Given the description of an element on the screen output the (x, y) to click on. 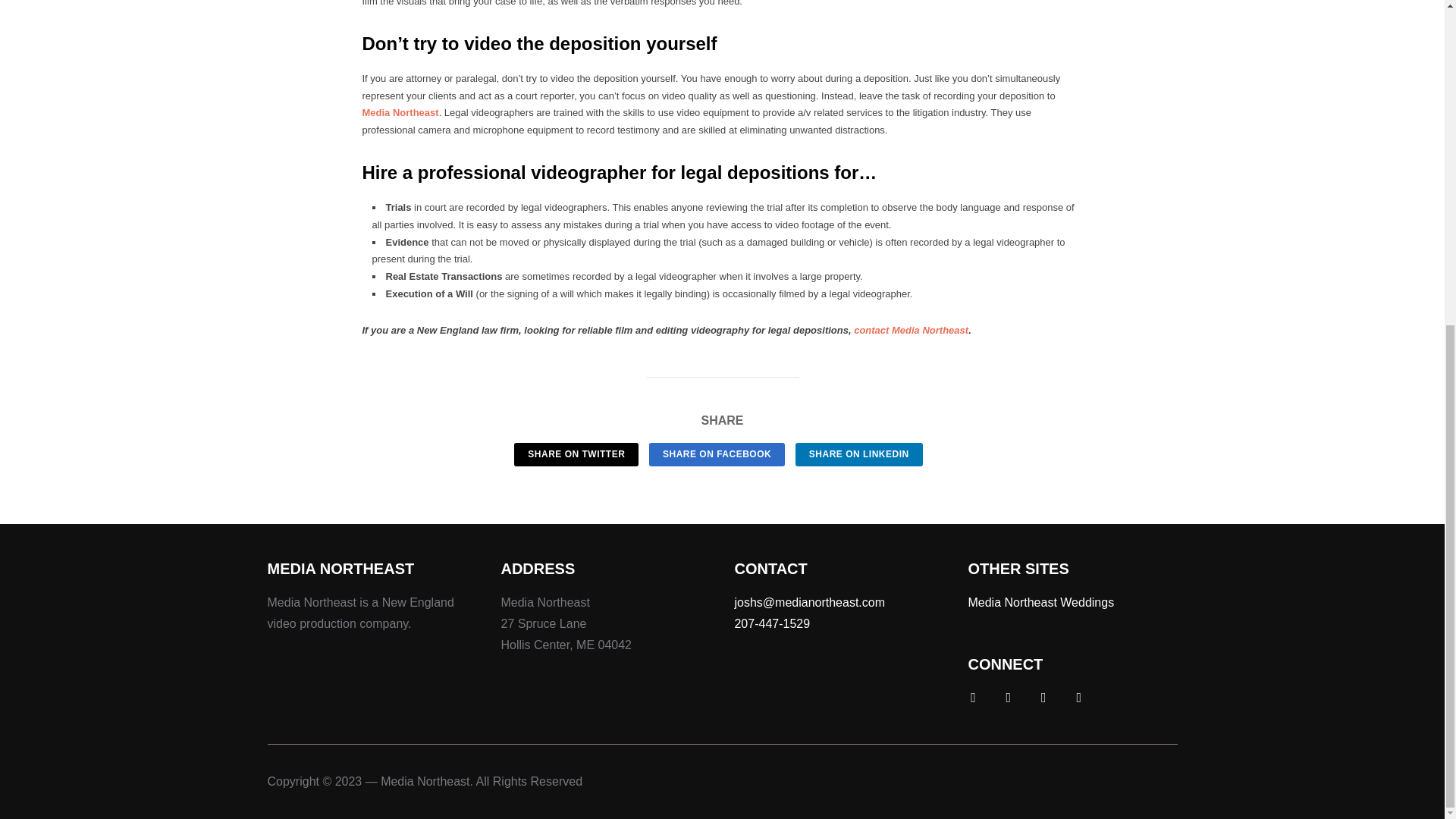
Media Northeast (400, 112)
Default Label (1078, 696)
Share on X (576, 454)
SHARE ON LINKEDIN (858, 454)
SHARE ON FACEBOOK (716, 454)
Instagram (1043, 696)
SHARE ON TWITTER (576, 454)
Share on LinkedIn (858, 454)
Facebook (972, 696)
Share this on Facebook (716, 454)
